Given the description of an element on the screen output the (x, y) to click on. 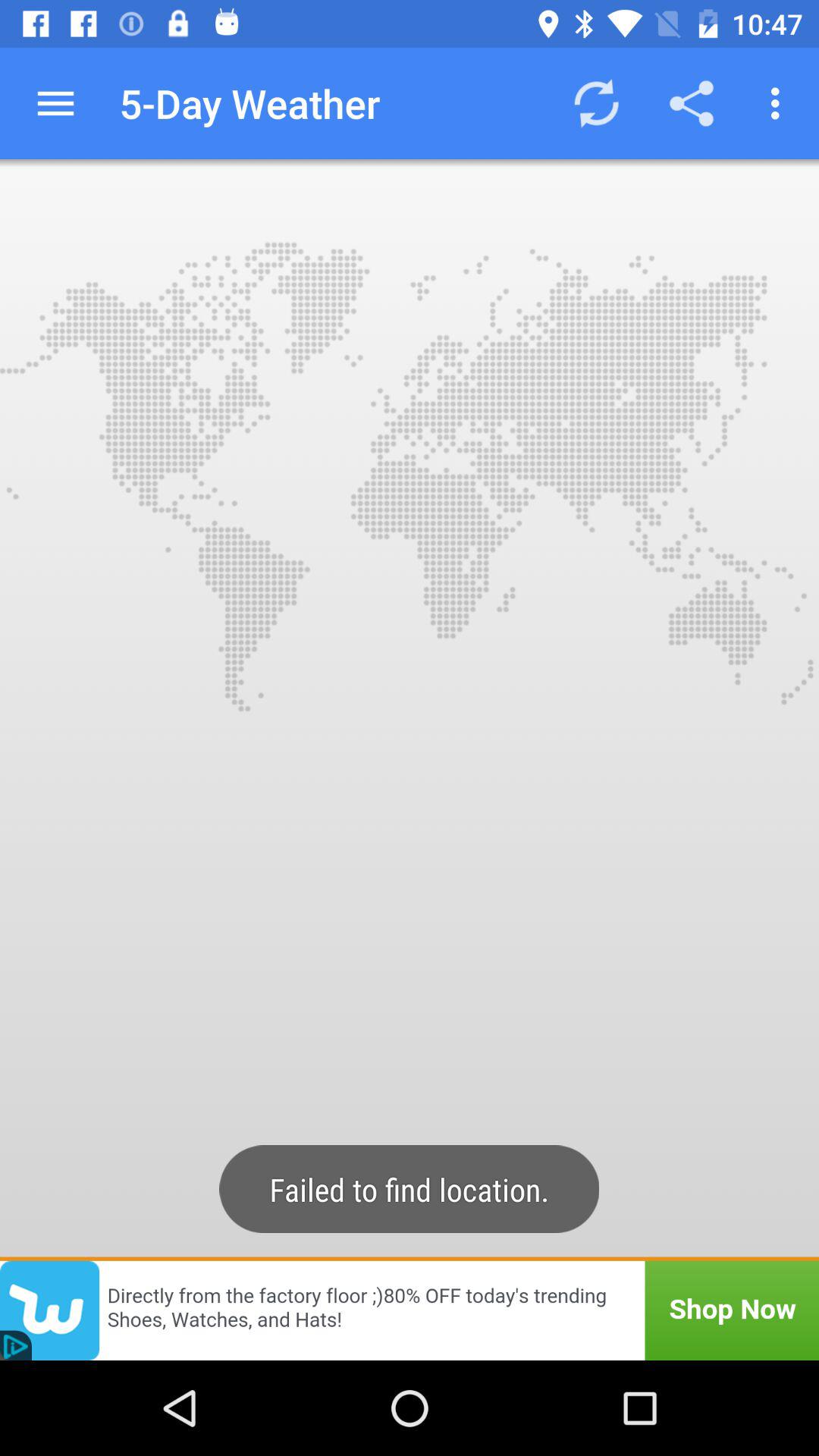
press app to the left of 5-day weather item (55, 103)
